Given the description of an element on the screen output the (x, y) to click on. 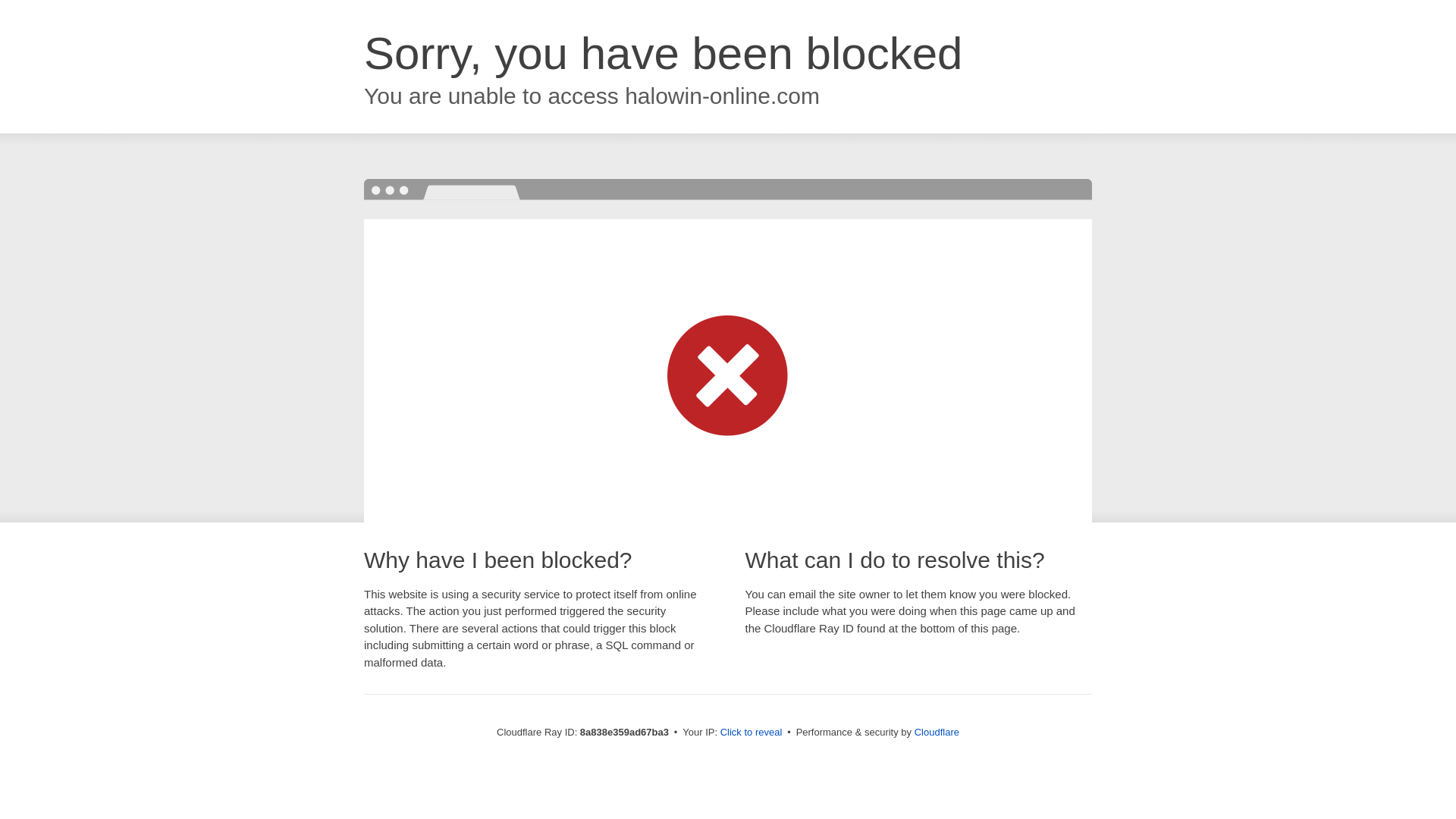
Cloudflare (936, 731)
Click to reveal (751, 732)
